Given the description of an element on the screen output the (x, y) to click on. 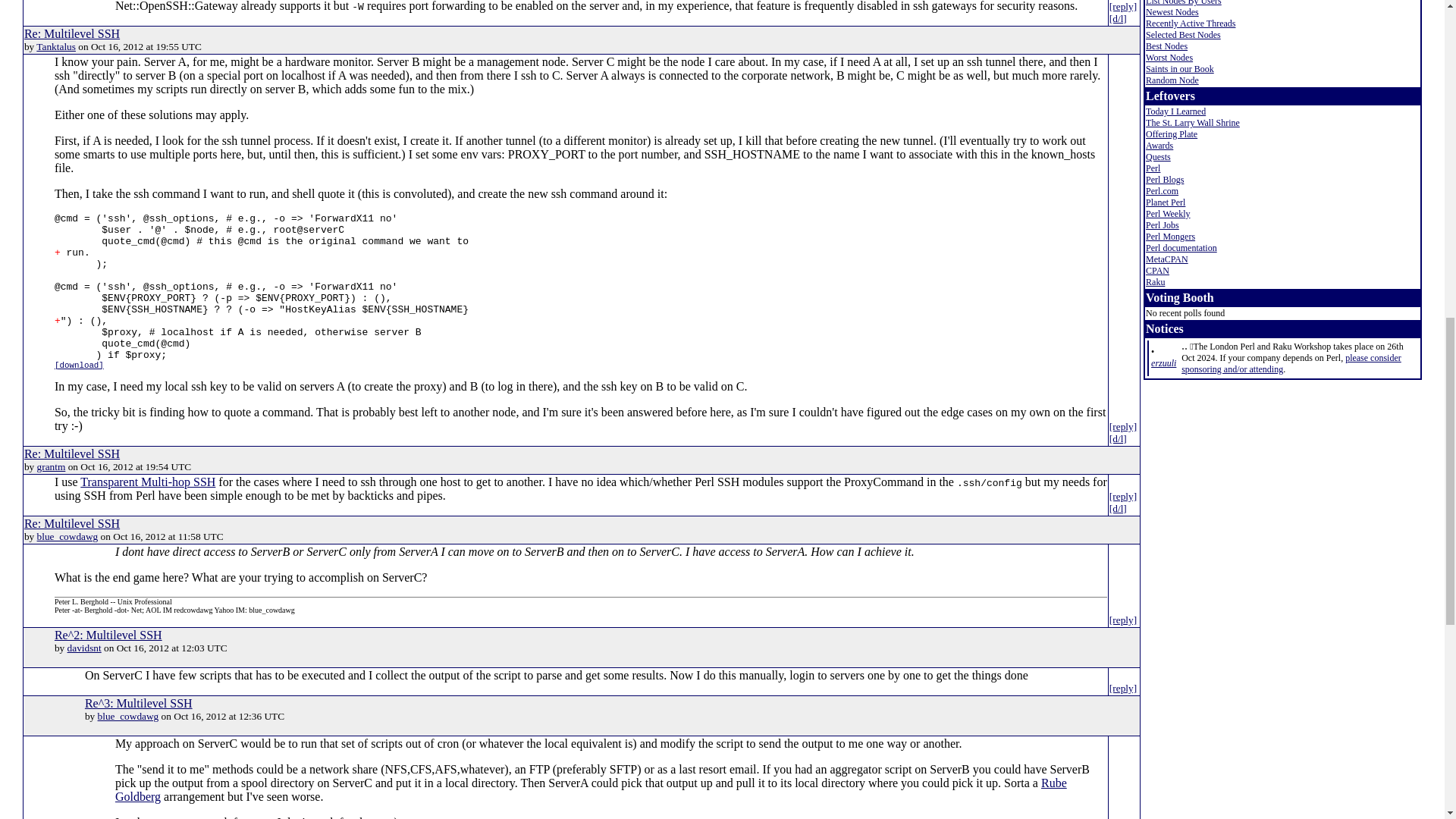
2024-05-30 14:23:36 (1163, 362)
